Given the description of an element on the screen output the (x, y) to click on. 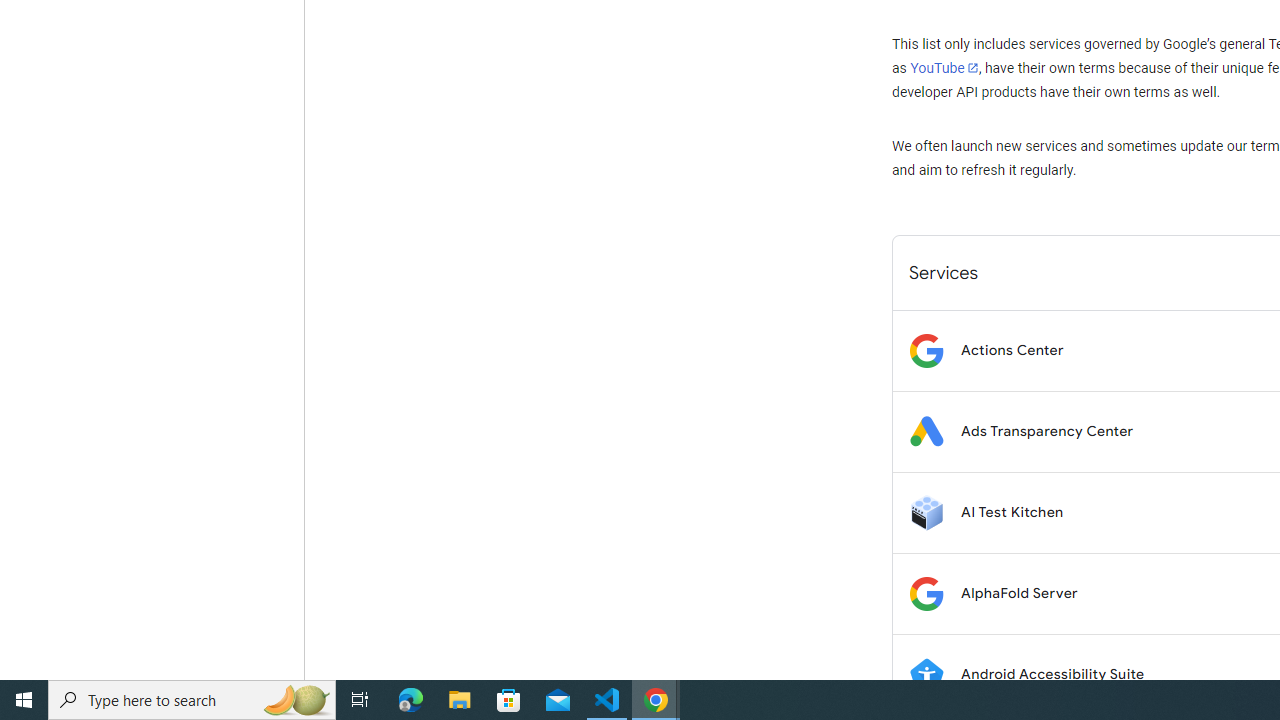
Logo for Android Accessibility Suite (926, 673)
Logo for Actions Center (926, 349)
YouTube (944, 68)
Logo for Ads Transparency Center (926, 431)
Logo for AI Test Kitchen (926, 512)
Logo for AlphaFold Server (926, 593)
